Given the description of an element on the screen output the (x, y) to click on. 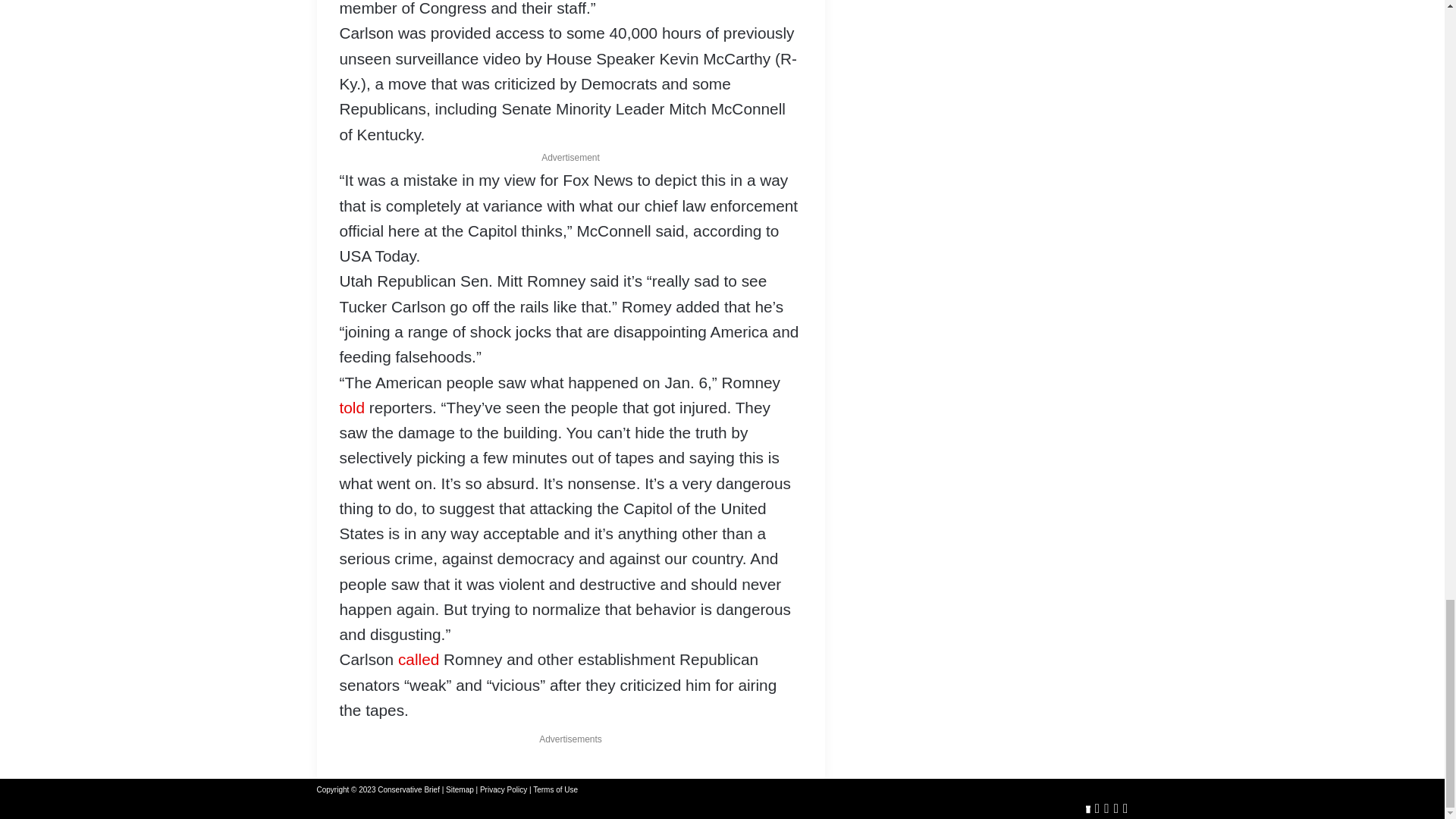
told (352, 407)
Privacy Policy (503, 789)
Terms of Use (555, 789)
Conservative Brief (408, 789)
Sitemap (459, 789)
called (418, 659)
